Given the description of an element on the screen output the (x, y) to click on. 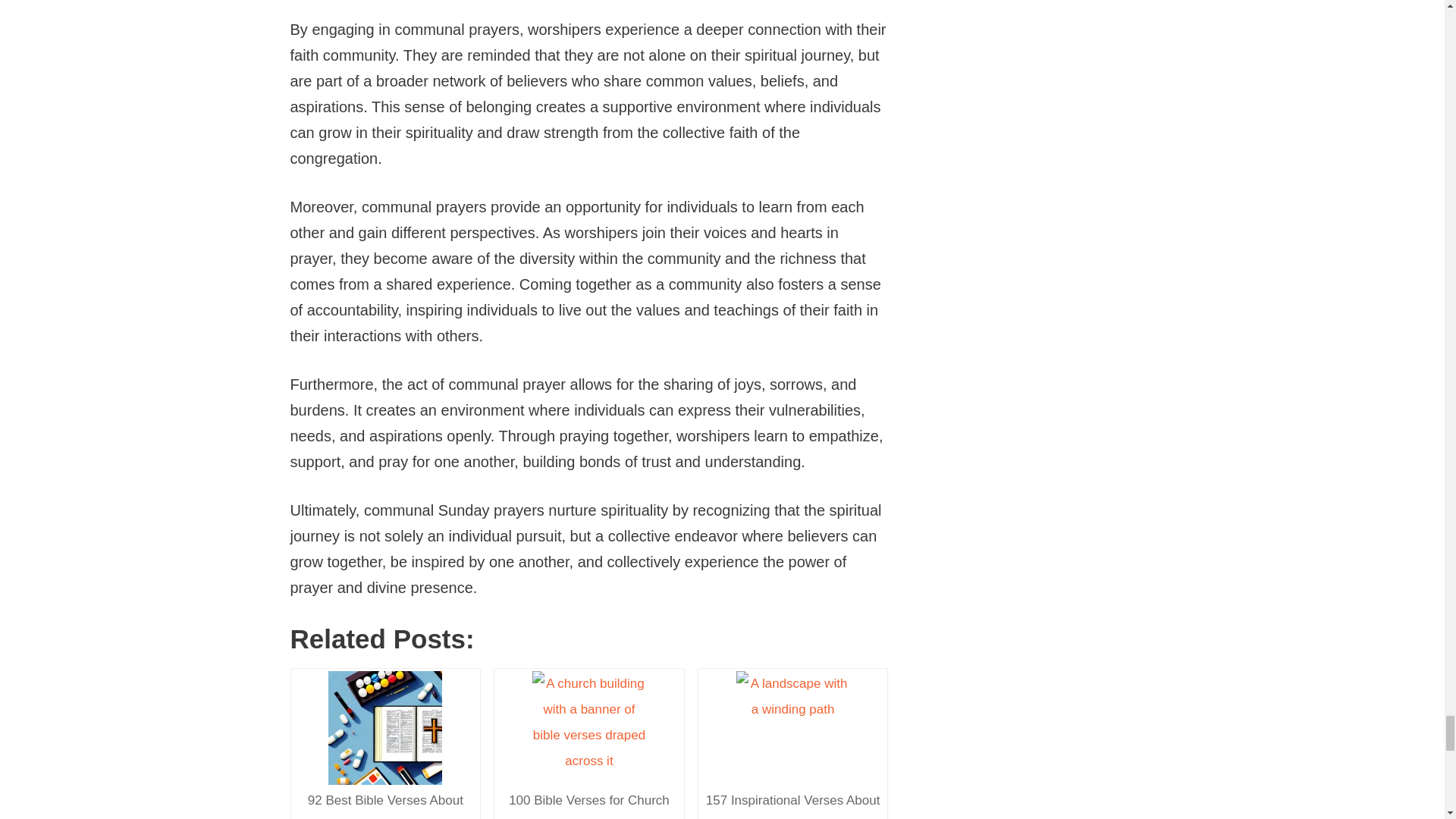
92 Best Bible Verses About Addiction KJV (384, 748)
92 Best Bible Verses About Addiction KJV (385, 727)
157 Inspirational Verses About Life from the Bible (792, 745)
157 Inspirational Verses About Life from the Bible (793, 727)
